Given the description of an element on the screen output the (x, y) to click on. 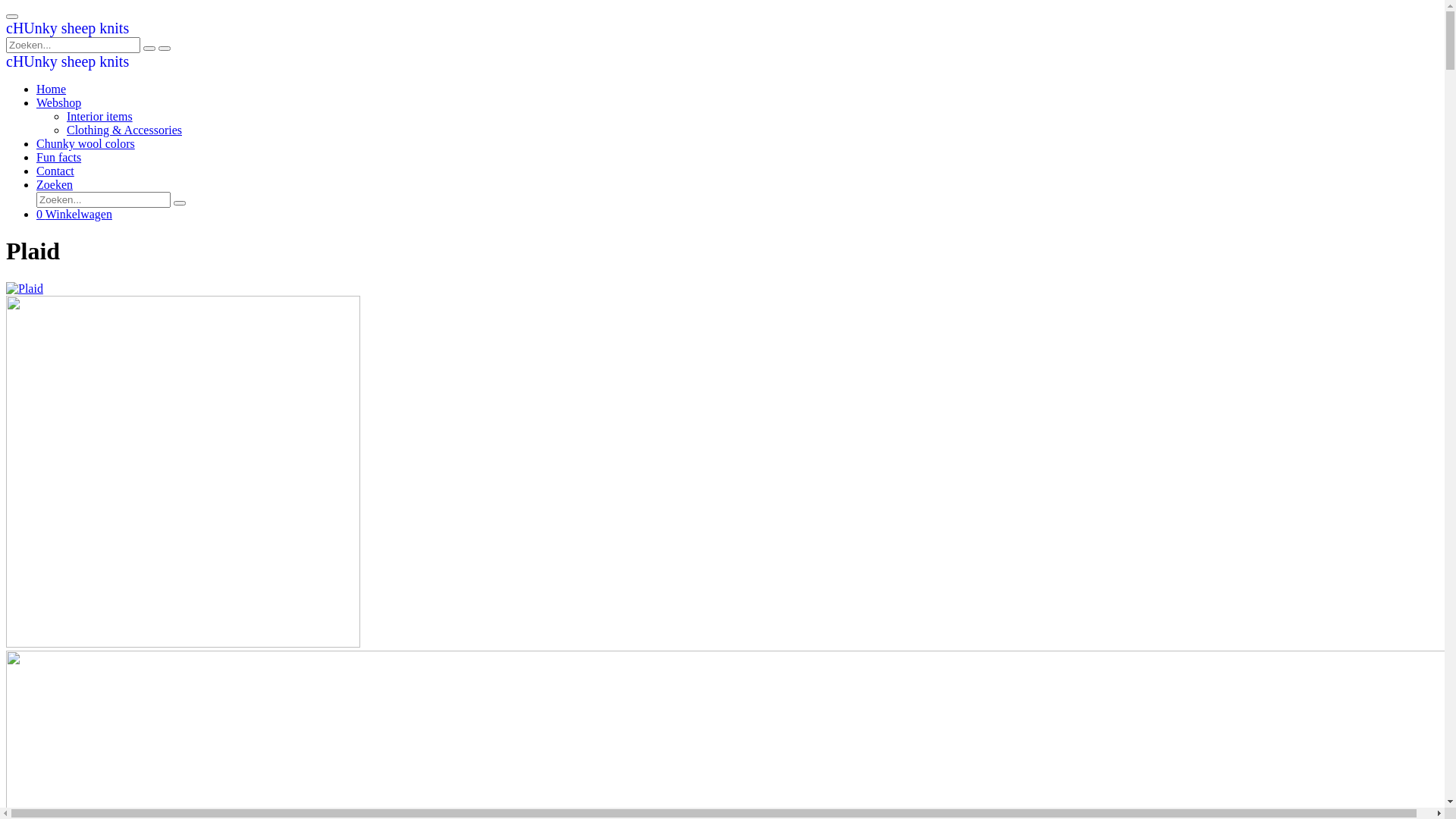
cHUnky sheep knits Element type: text (67, 28)
Webshop Element type: text (58, 102)
Contact Element type: text (55, 170)
Interior items Element type: text (99, 115)
Clothing & Accessories Element type: text (124, 129)
0 Winkelwagen Element type: text (74, 213)
Fun facts Element type: text (58, 156)
Home Element type: text (50, 88)
Zoeken Element type: text (54, 184)
cHUnky sheep knits Element type: text (67, 62)
Chunky wool colors Element type: text (85, 143)
